Given the description of an element on the screen output the (x, y) to click on. 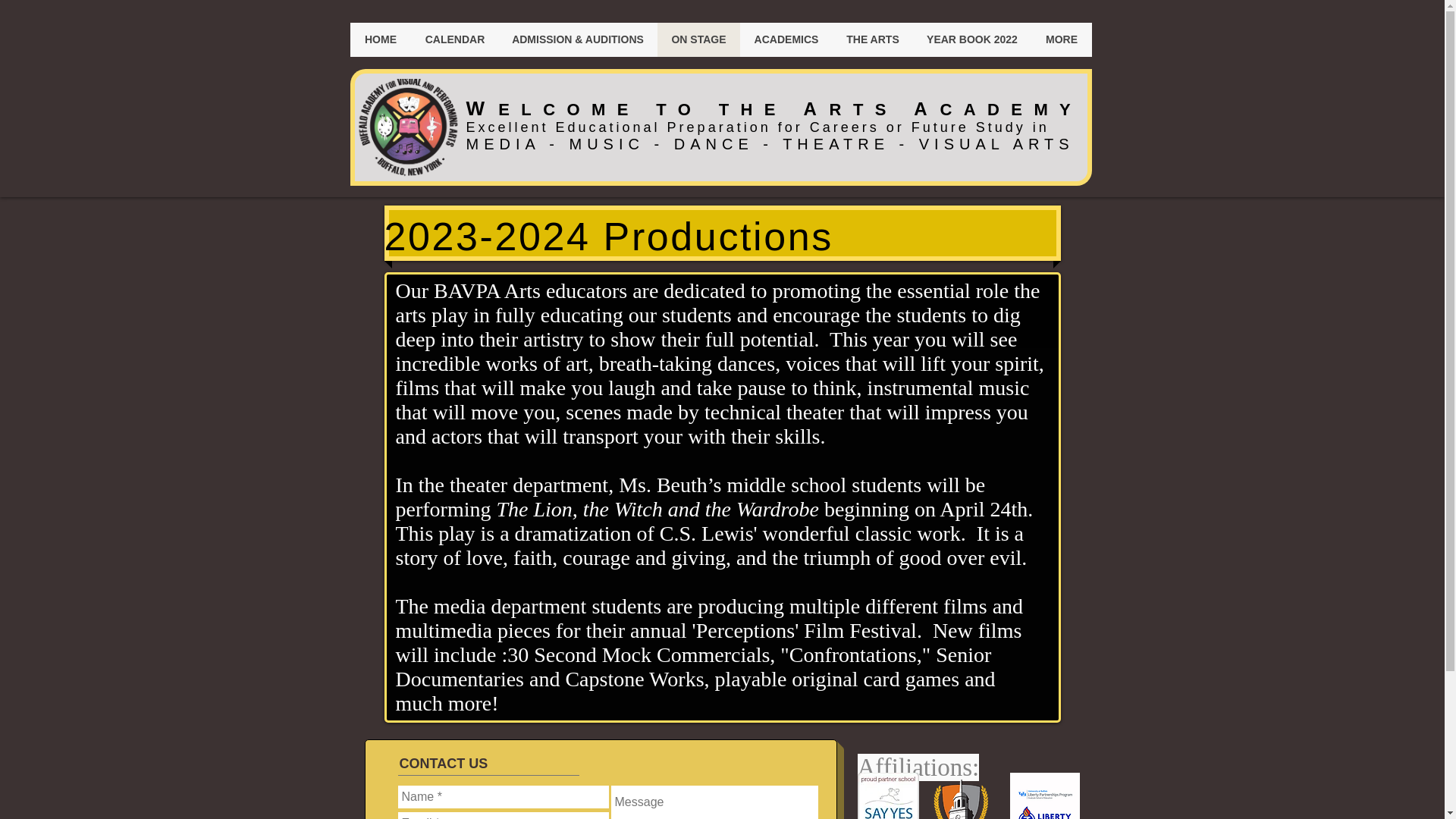
THE ARTS (872, 39)
ACADEMICS (785, 39)
HOME (381, 39)
ON STAGE (697, 39)
CALENDAR (453, 39)
sayYesBanner.jpg (887, 796)
